Given the description of an element on the screen output the (x, y) to click on. 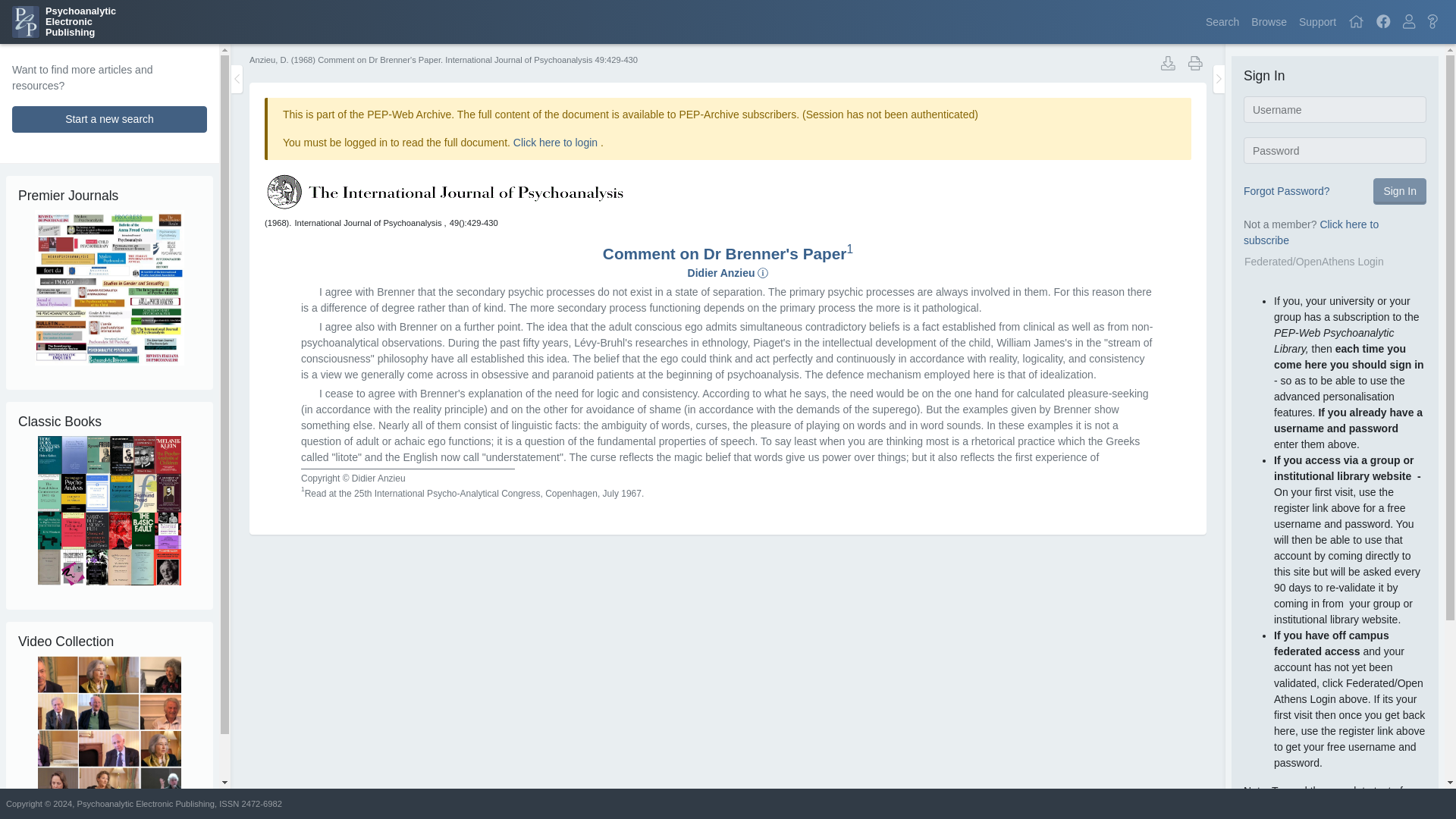
Sign In (1399, 191)
Support (1317, 22)
Comment on Dr Brenner's Paper (724, 253)
Search (1221, 22)
Didier Anzieu (721, 272)
PEP Facebook Page (1383, 22)
User Menu (63, 21)
Click here to login (1408, 22)
Browse (556, 142)
Click here to subscribe (1268, 22)
Support (1310, 232)
Start a new search (1317, 22)
Forgot Password? (108, 119)
